Given the description of an element on the screen output the (x, y) to click on. 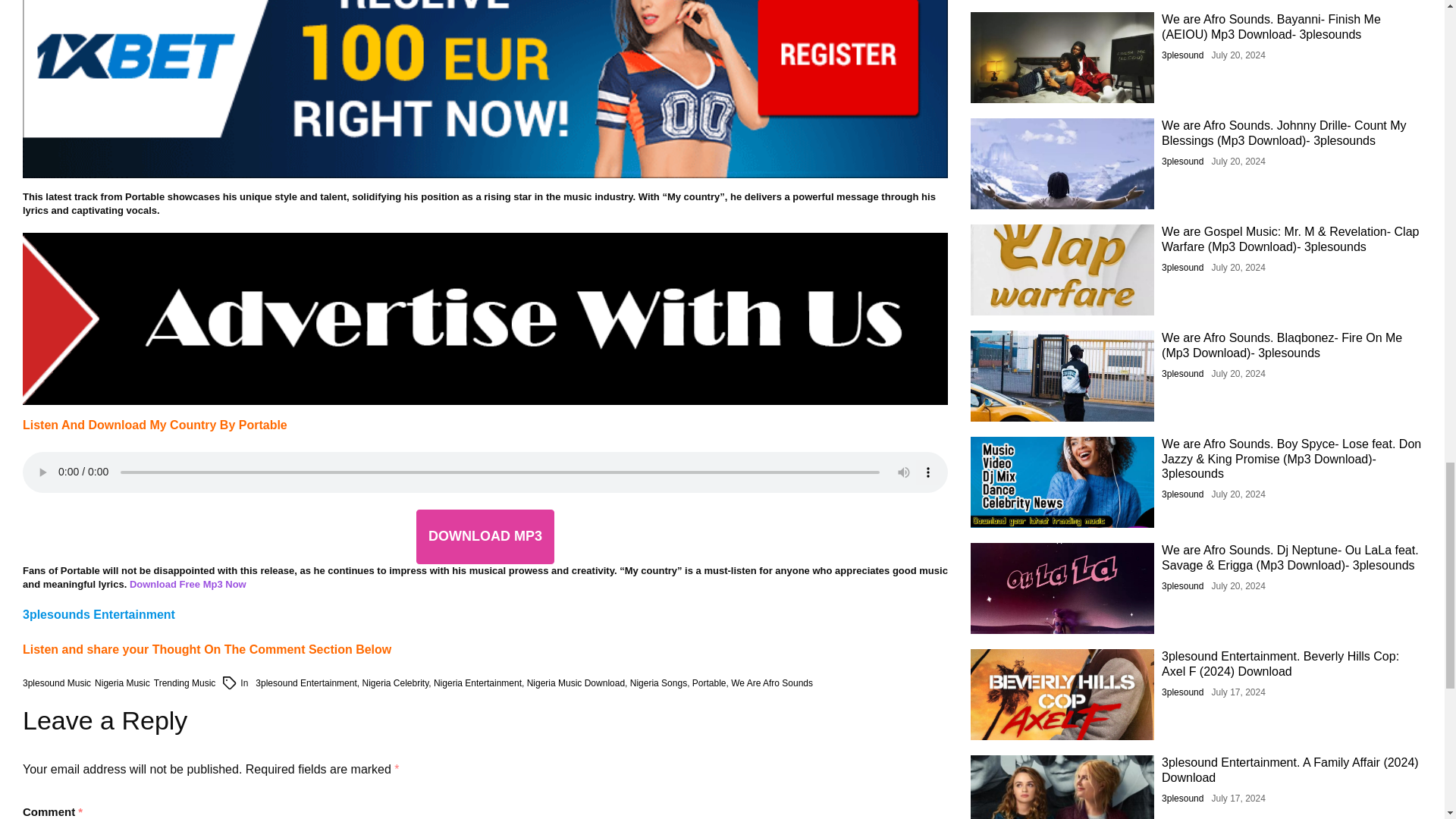
Nigeria Celebrity (394, 683)
Nigeria Songs (658, 683)
DOWNLOAD MP3 (485, 536)
Trending Music (184, 683)
Nigeria Music Download (575, 683)
3plesound Music (56, 683)
Portable (709, 683)
We Are Afro Sounds (771, 683)
Nigeria Music (121, 683)
Nigeria Entertainment (477, 683)
3plesound Entertainment (306, 683)
